Given the description of an element on the screen output the (x, y) to click on. 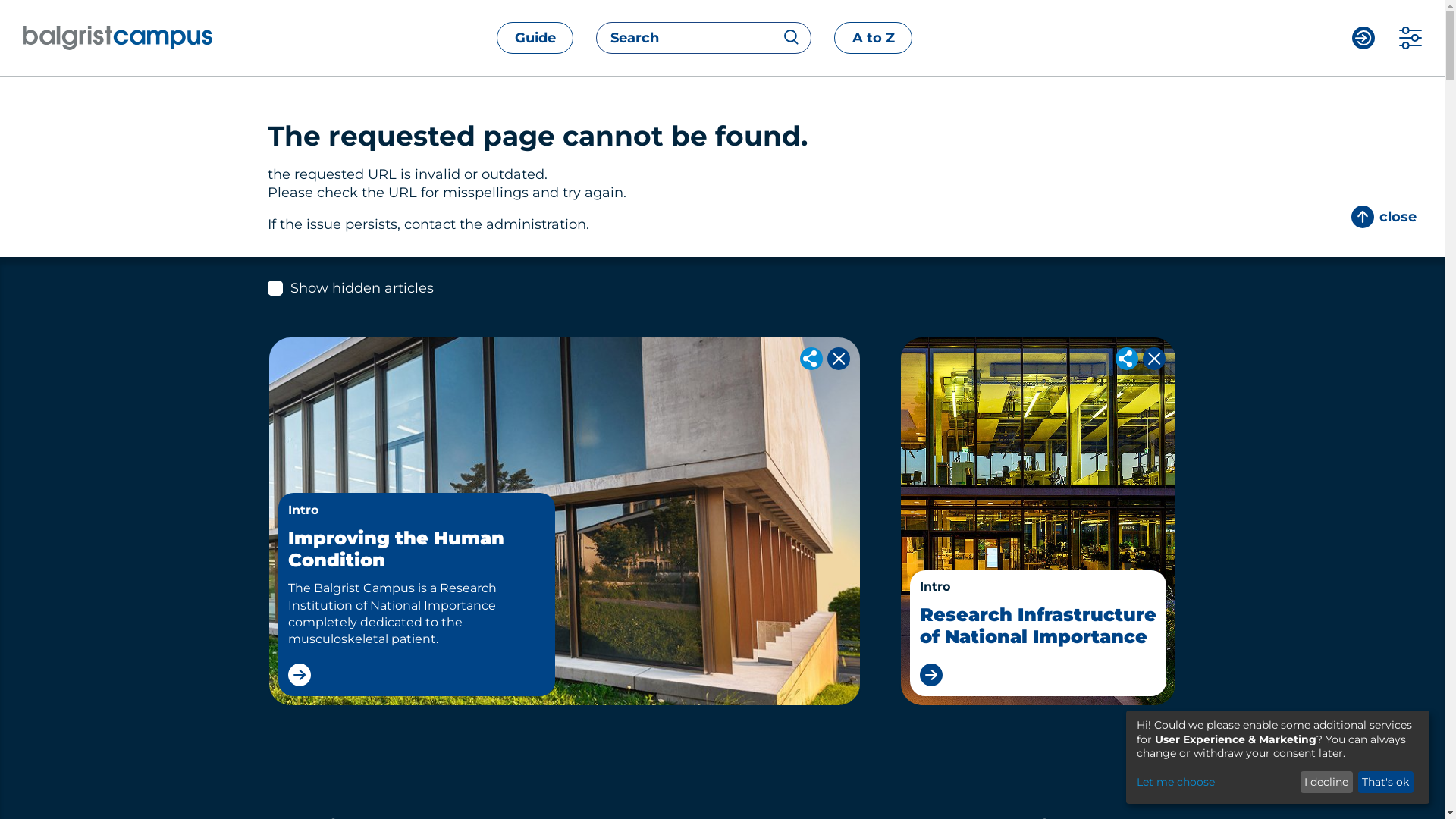
I decline Element type: text (1326, 782)
info@balgristcampus.ch Element type: text (481, 780)
That's ok Element type: text (1385, 782)
Let me choose Element type: text (1215, 782)
link to home Element type: hover (141, 37)
+41 44 510 70 00 Element type: text (355, 780)
